Given the description of an element on the screen output the (x, y) to click on. 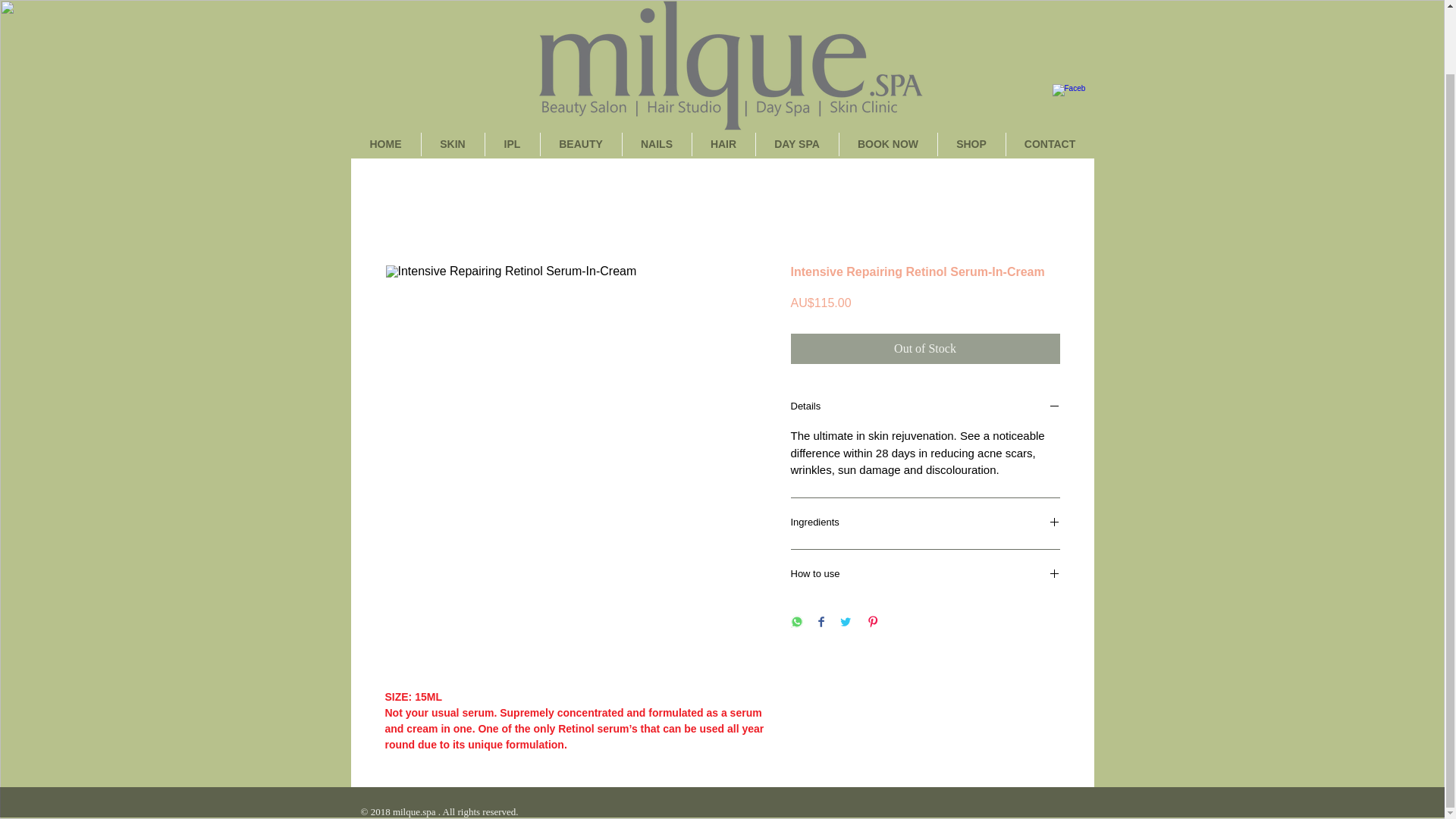
Ingredients (924, 523)
NAILS (655, 144)
CONTACT (1049, 144)
Details (924, 407)
HAIR (722, 144)
Out of Stock (924, 348)
BOOK NOW (887, 144)
DAY SPA (796, 144)
How to use (924, 575)
SHOP (970, 144)
